Given the description of an element on the screen output the (x, y) to click on. 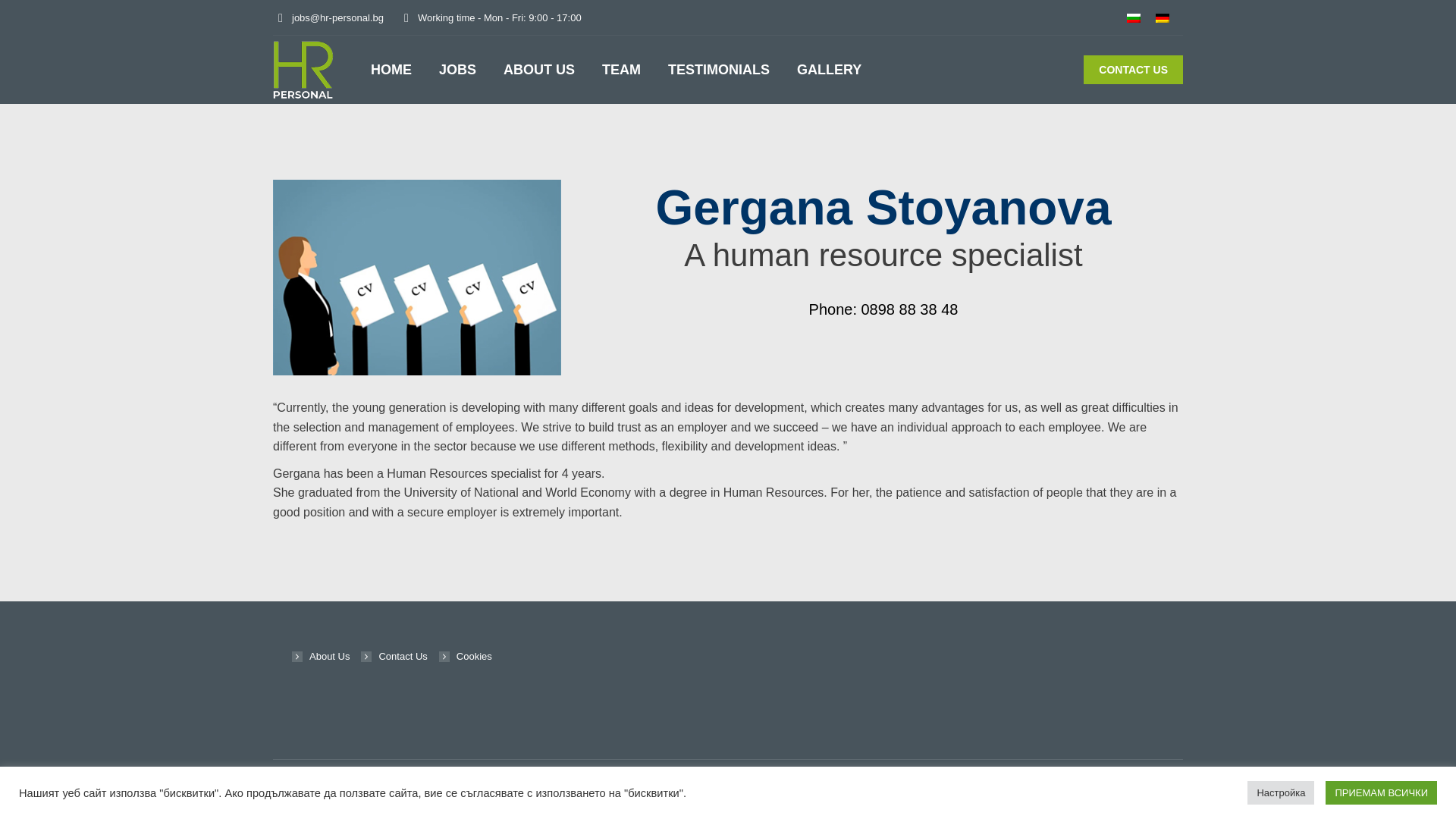
TEAM (620, 69)
HOME (391, 69)
GALLERY (828, 69)
JOBS (457, 69)
TESTIMONIALS (719, 69)
ABOUT US (539, 69)
CONTACT US (1132, 69)
About Us (320, 656)
Creatica Studio (1148, 781)
Contact Us (393, 656)
